Given the description of an element on the screen output the (x, y) to click on. 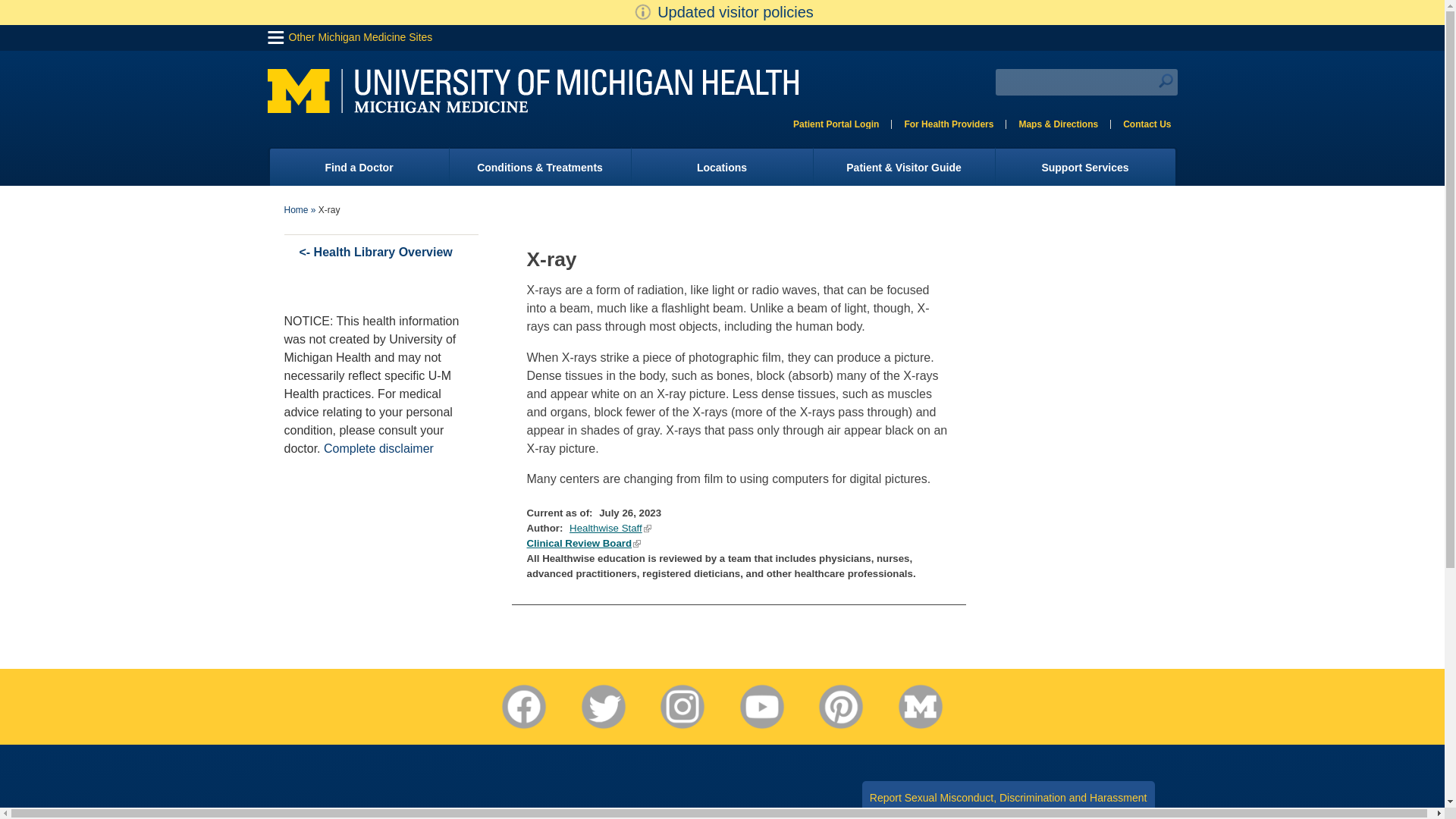
For Health Providers (948, 123)
Find a Doctor (357, 166)
Pinterest (840, 706)
Enter the terms you wish to search for. (1085, 81)
Complete disclaimer (378, 448)
Patient Portal Login (836, 123)
Contact Us (1146, 123)
Facebook (523, 706)
Home (295, 209)
